Given the description of an element on the screen output the (x, y) to click on. 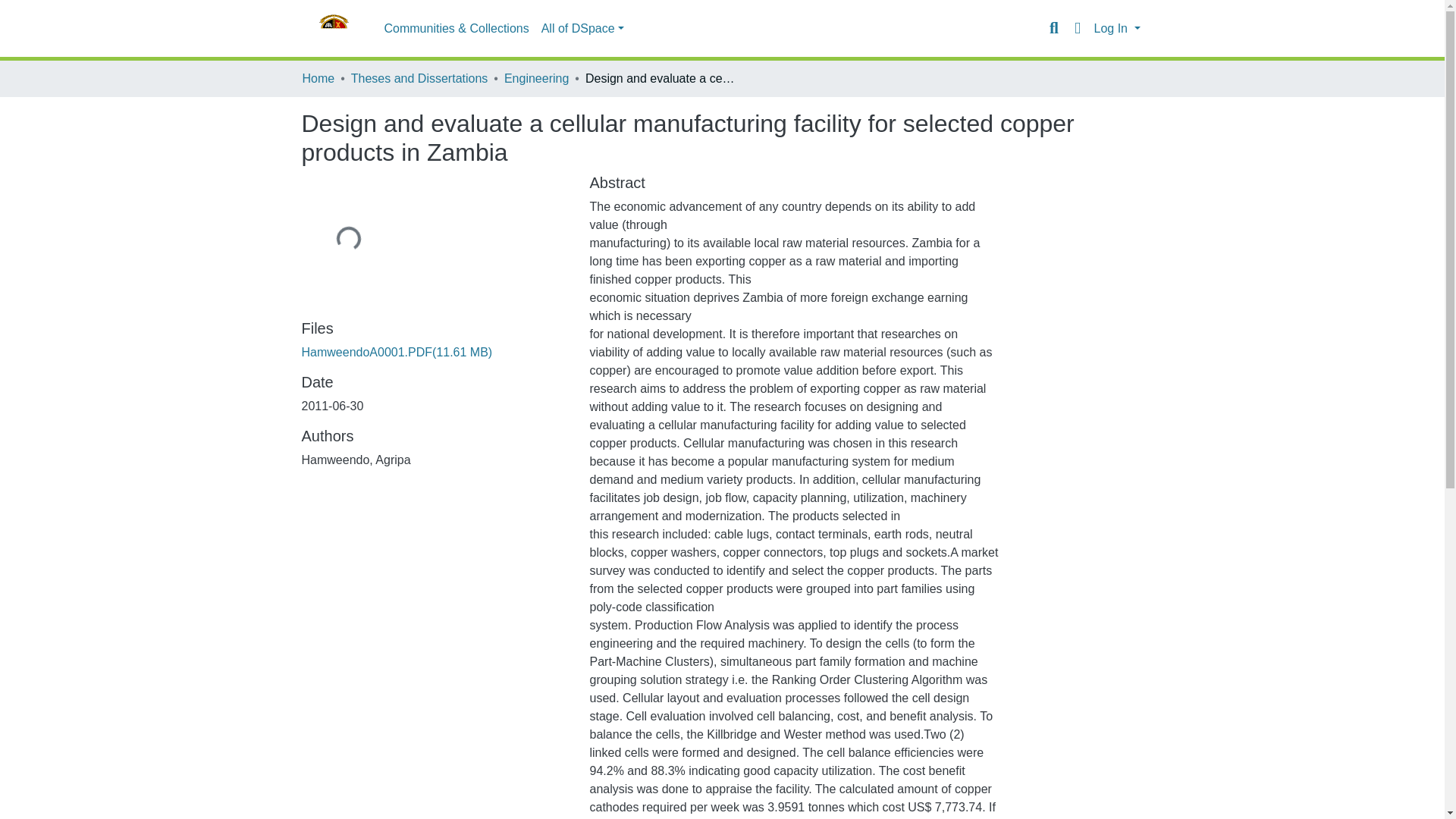
Engineering (536, 78)
Log In (1116, 28)
All of DSpace (582, 28)
Theses and Dissertations (418, 78)
Search (1053, 28)
Home (317, 78)
Language switch (1077, 28)
